Given the description of an element on the screen output the (x, y) to click on. 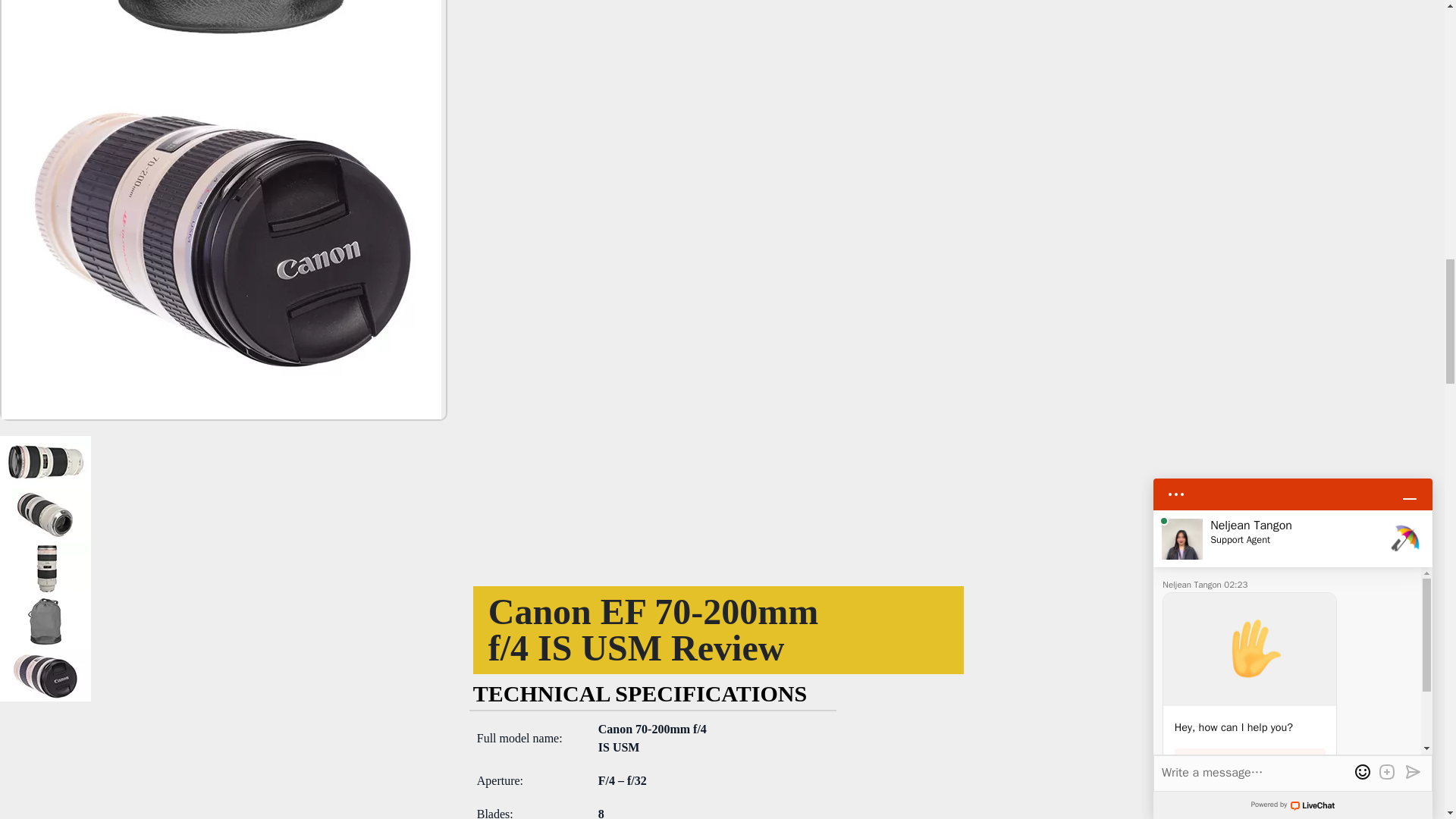
presepective 4 (221, 23)
